Given the description of an element on the screen output the (x, y) to click on. 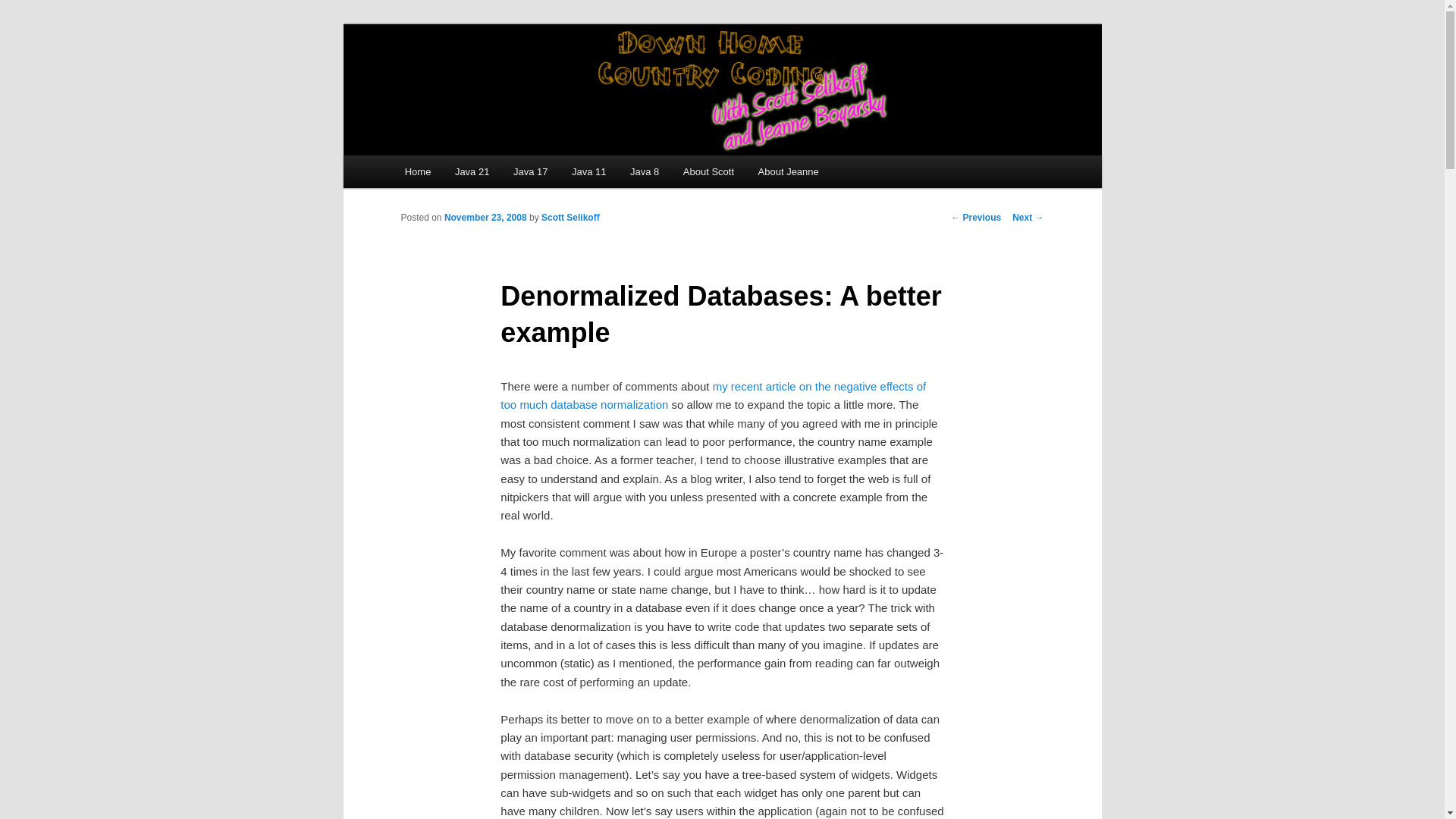
View all posts by Scott Selikoff (570, 217)
Scott Selikoff (570, 217)
Java 21 (471, 171)
Java 11 (588, 171)
November 23, 2008 (485, 217)
5:34 am (485, 217)
About Scott (708, 171)
Java 8 (644, 171)
Java 17 (529, 171)
Home (417, 171)
About Jeanne (788, 171)
